Given the description of an element on the screen output the (x, y) to click on. 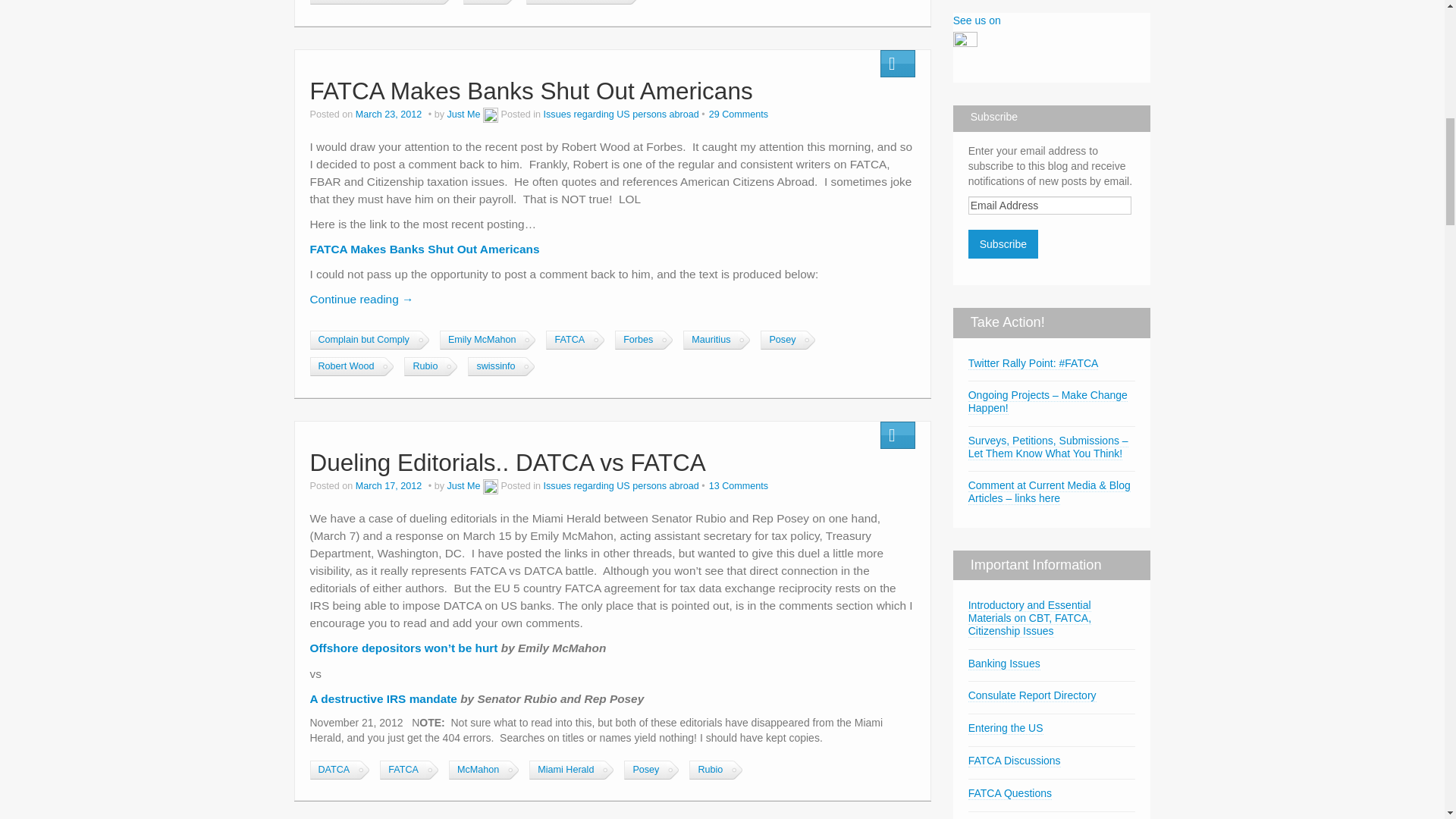
Email Address (1050, 205)
March 23, 2012 (390, 113)
Subscribe (1003, 244)
FATCA Makes Banks Shut Out Americans (530, 90)
U.S. citizens abroad (576, 2)
South Dakota dynasty trust (373, 2)
Permalink to FATCA Makes Banks Shut Out Americans (530, 90)
2:43 pm (390, 113)
TFSA (483, 2)
View all posts by Just Me (463, 113)
